Given the description of an element on the screen output the (x, y) to click on. 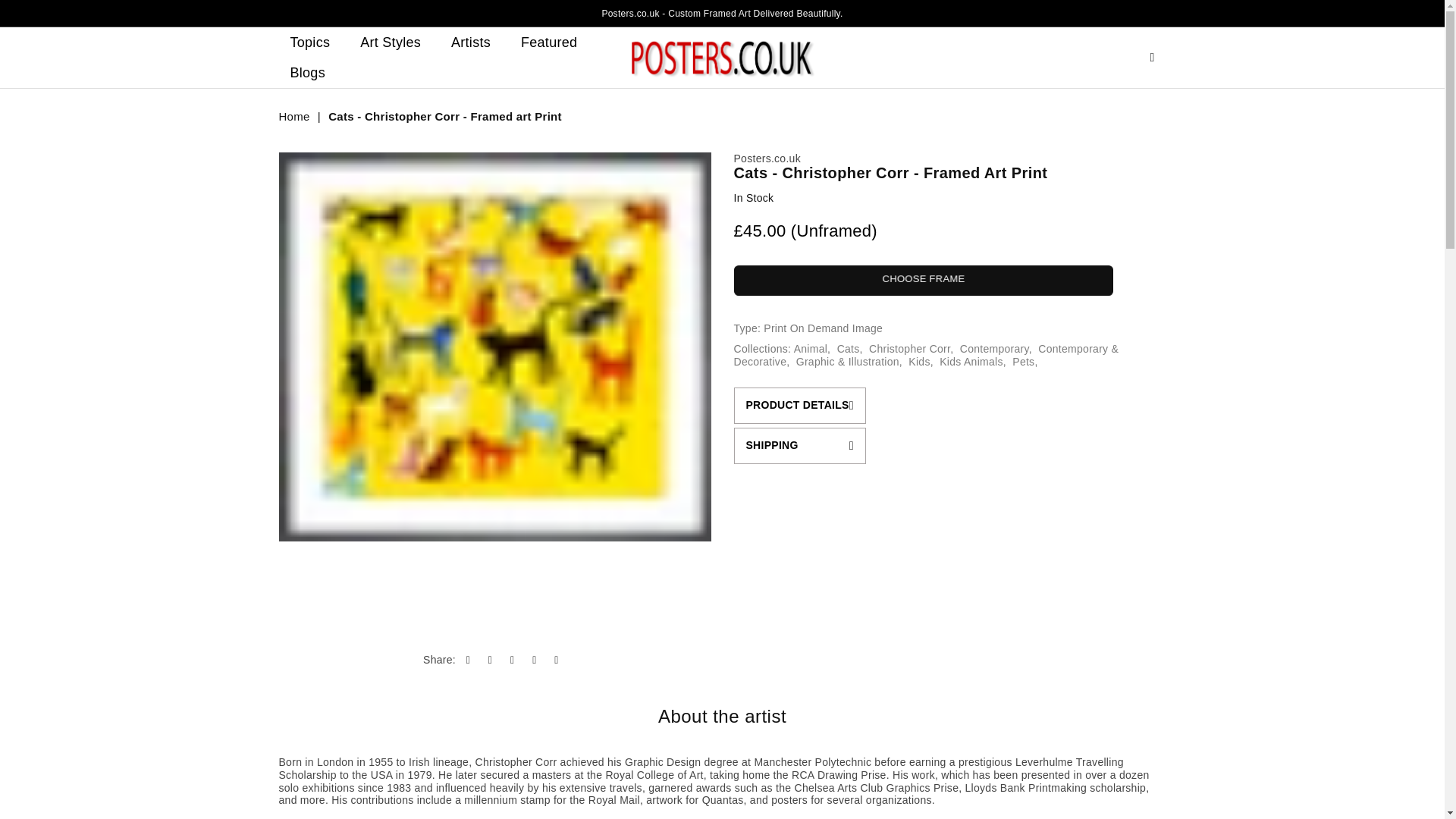
Kids (919, 361)
Animal (810, 348)
Contemporary (994, 348)
Back to the home page (296, 116)
Search (1152, 56)
PRODUCT DETAILS (799, 405)
Artists (470, 42)
Pets (1022, 361)
Christopher Corr (909, 348)
Cats (848, 348)
Kids Animals (971, 361)
Blogs (307, 72)
Art Styles (390, 42)
POSTERS.CO.UK (721, 57)
CHOOSE FRAME (923, 280)
